Given the description of an element on the screen output the (x, y) to click on. 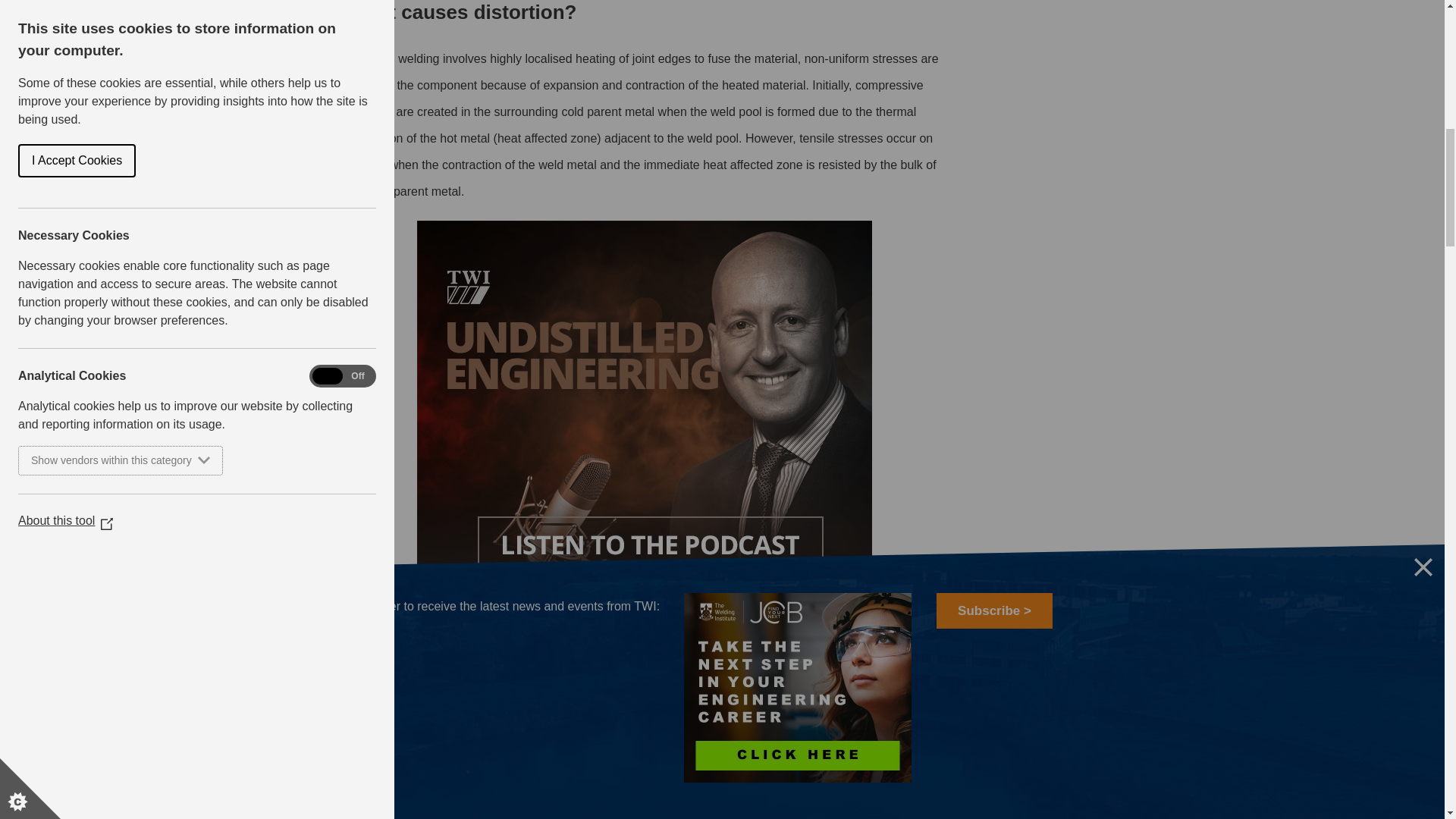
Our Podcast: Undistilled Engineering (644, 408)
Undistilled Engineering Podcast (644, 629)
